Given the description of an element on the screen output the (x, y) to click on. 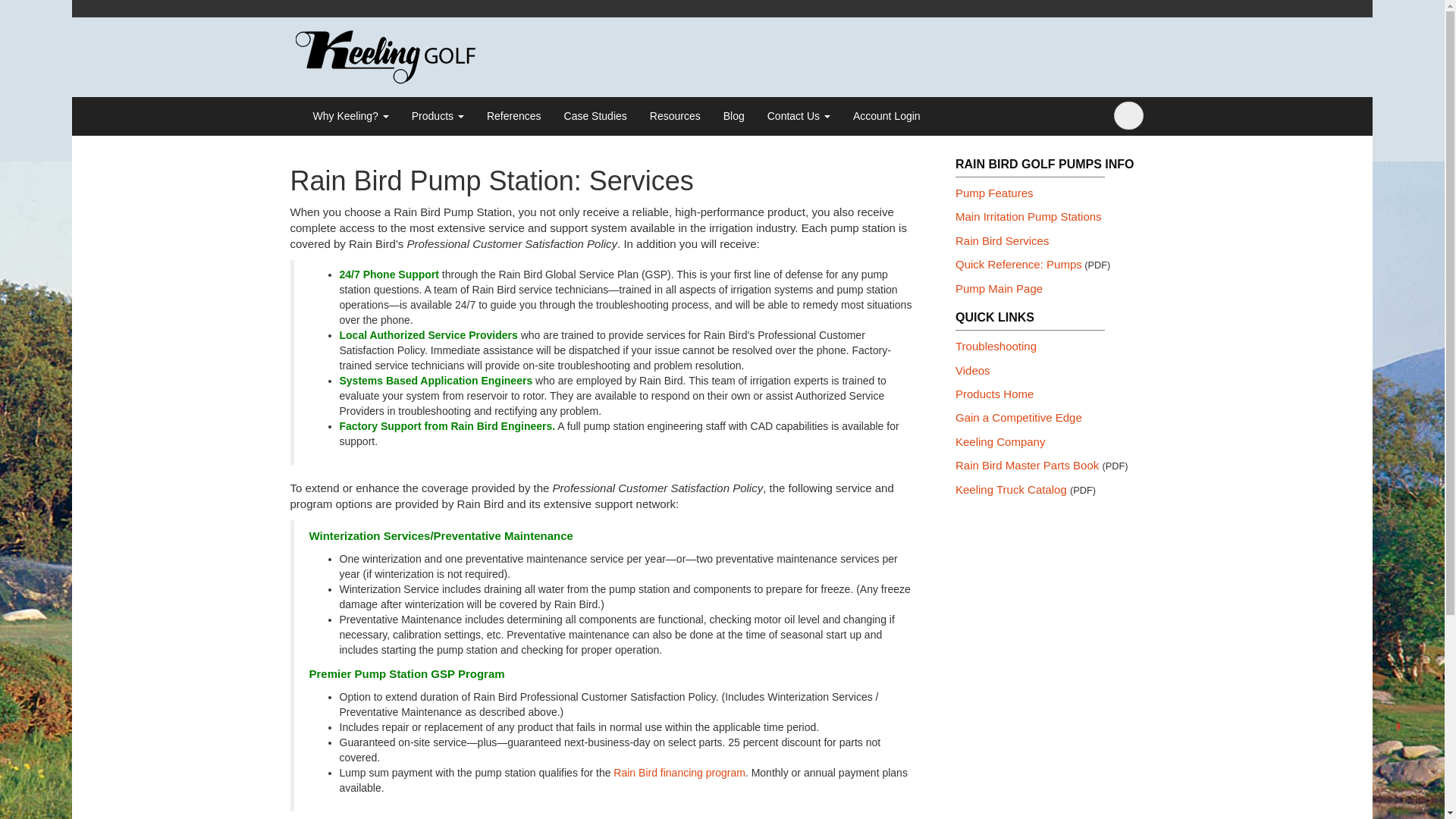
Gain a Competitive Edge (1018, 417)
Products (438, 116)
Rain Bird Master Parts Book (1027, 464)
Account Login (886, 116)
Rain Bird financing program (678, 772)
Troubleshooting (995, 345)
Keeling Company (1000, 440)
Why Keeling? (350, 116)
Resources (675, 116)
Products Home (994, 393)
Quick Reference: Pumps (1018, 264)
Contact Us (798, 116)
Main Irritation Pump Stations (1028, 215)
Pump Features (994, 192)
Videos (972, 369)
